Given the description of an element on the screen output the (x, y) to click on. 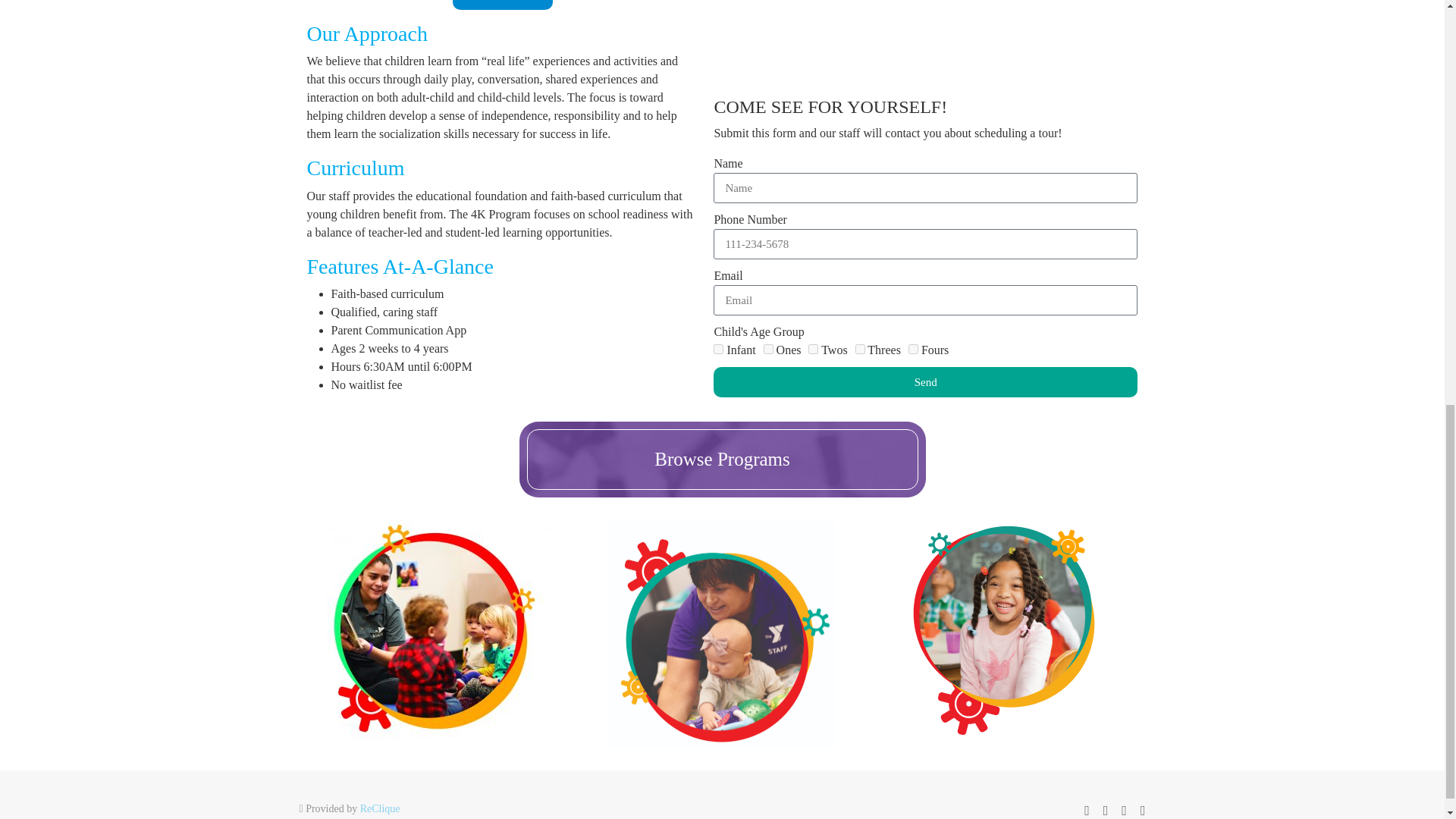
Infant (718, 348)
Threes (860, 348)
Ones (767, 348)
Fours (913, 348)
Twos (813, 348)
